Given the description of an element on the screen output the (x, y) to click on. 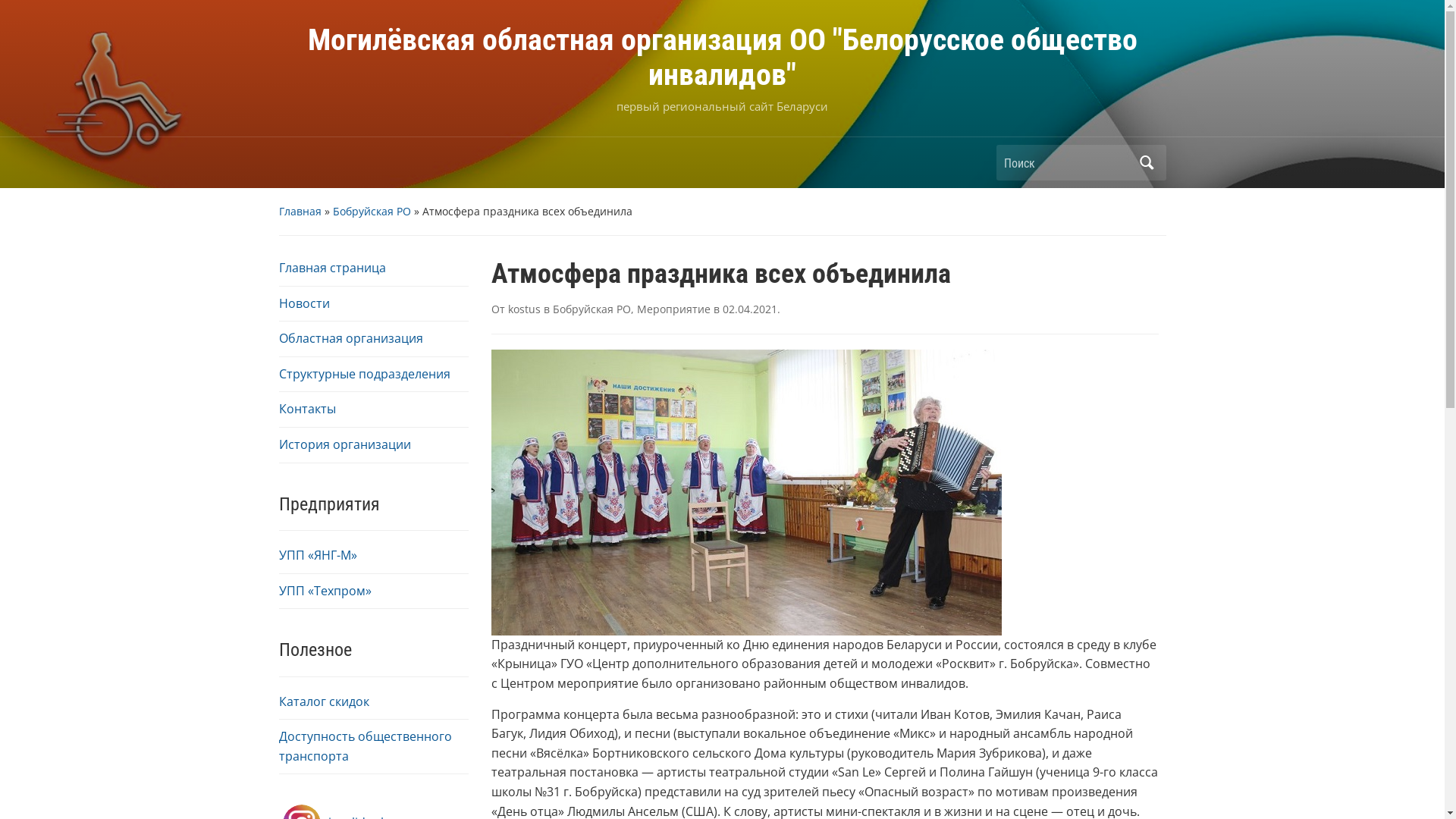
02.04.2021 Element type: text (748, 308)
kostus Element type: text (524, 308)
